Given the description of an element on the screen output the (x, y) to click on. 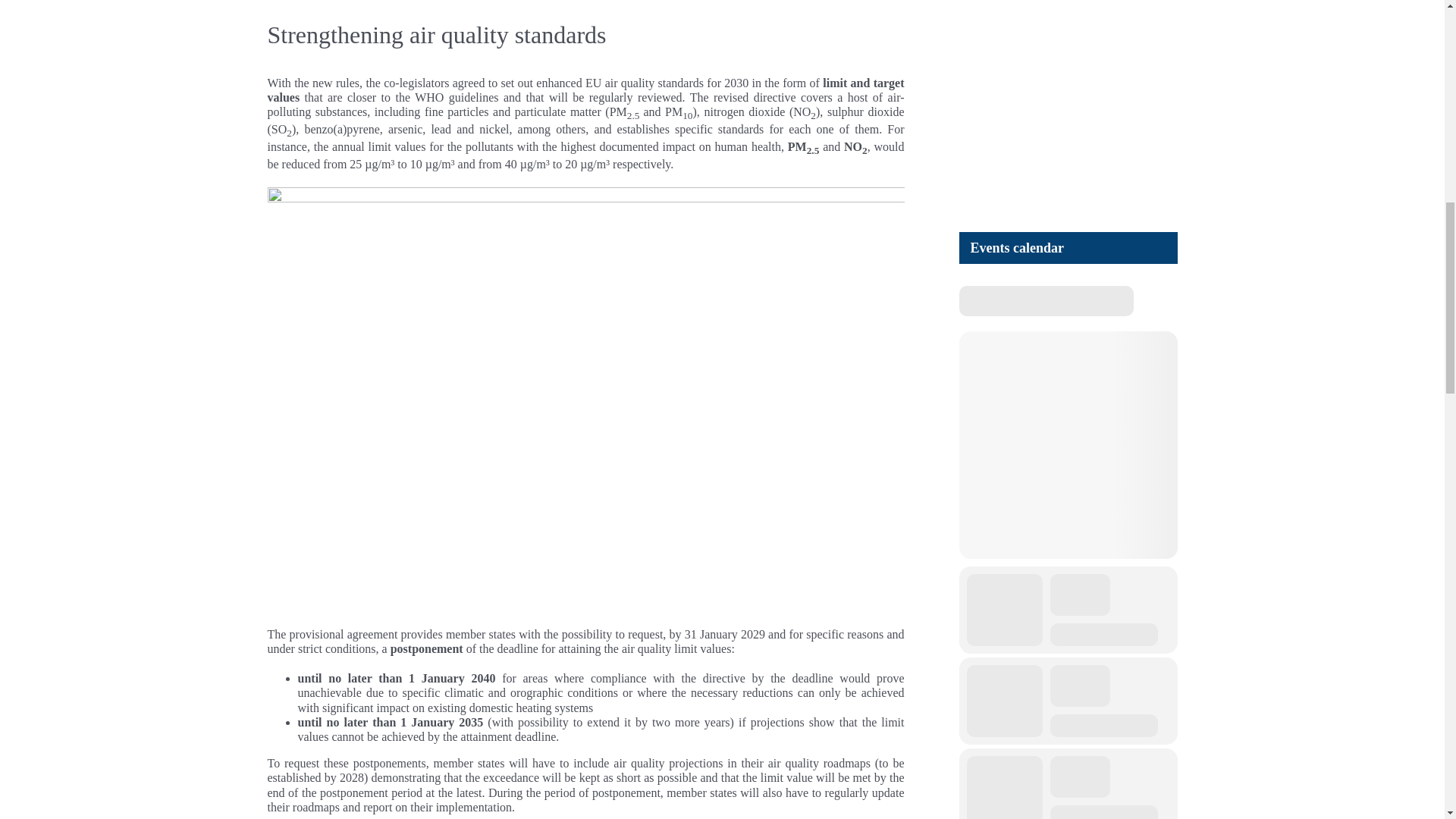
YouTube video player (1170, 97)
